Given the description of an element on the screen output the (x, y) to click on. 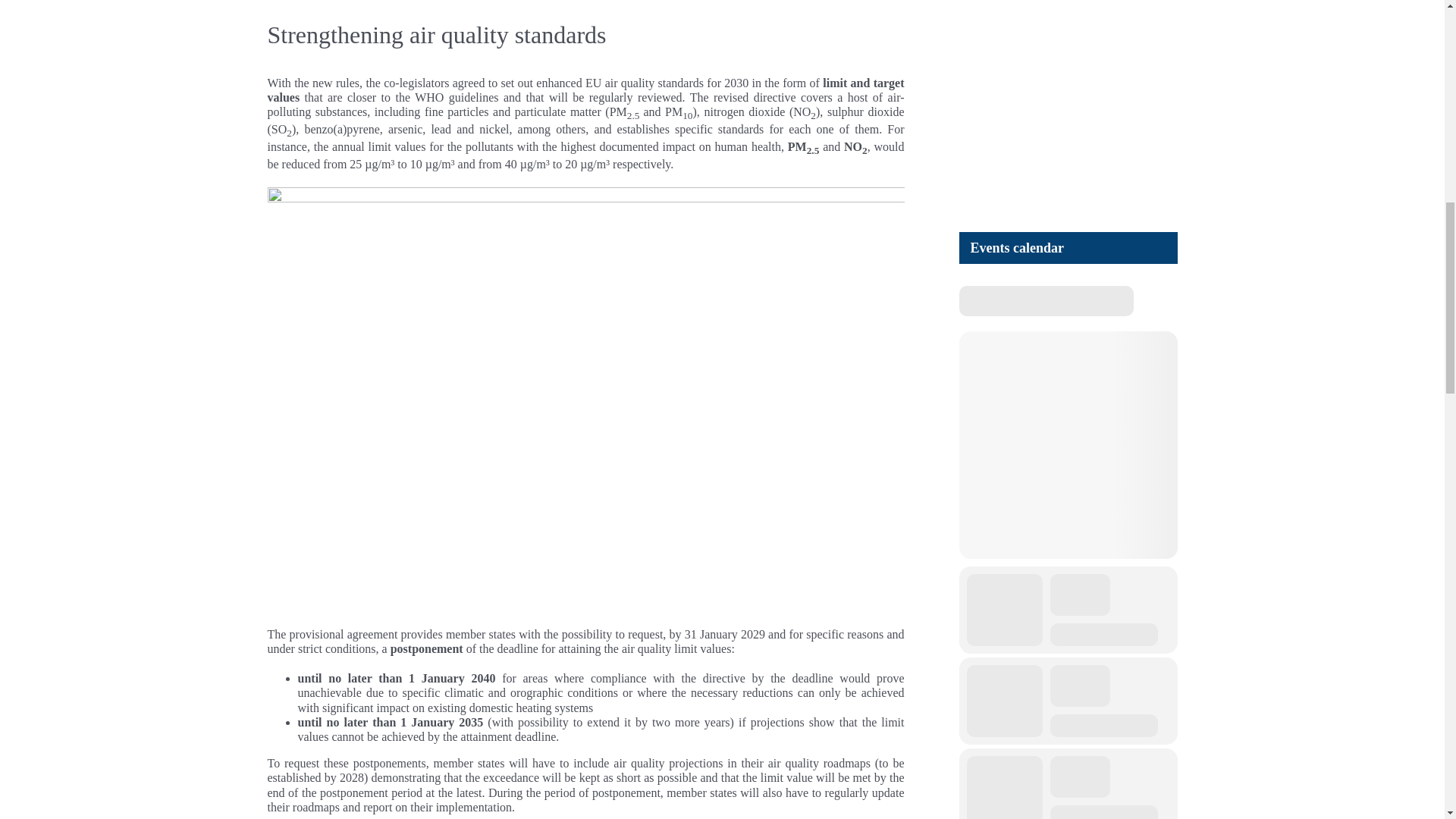
YouTube video player (1170, 97)
